Given the description of an element on the screen output the (x, y) to click on. 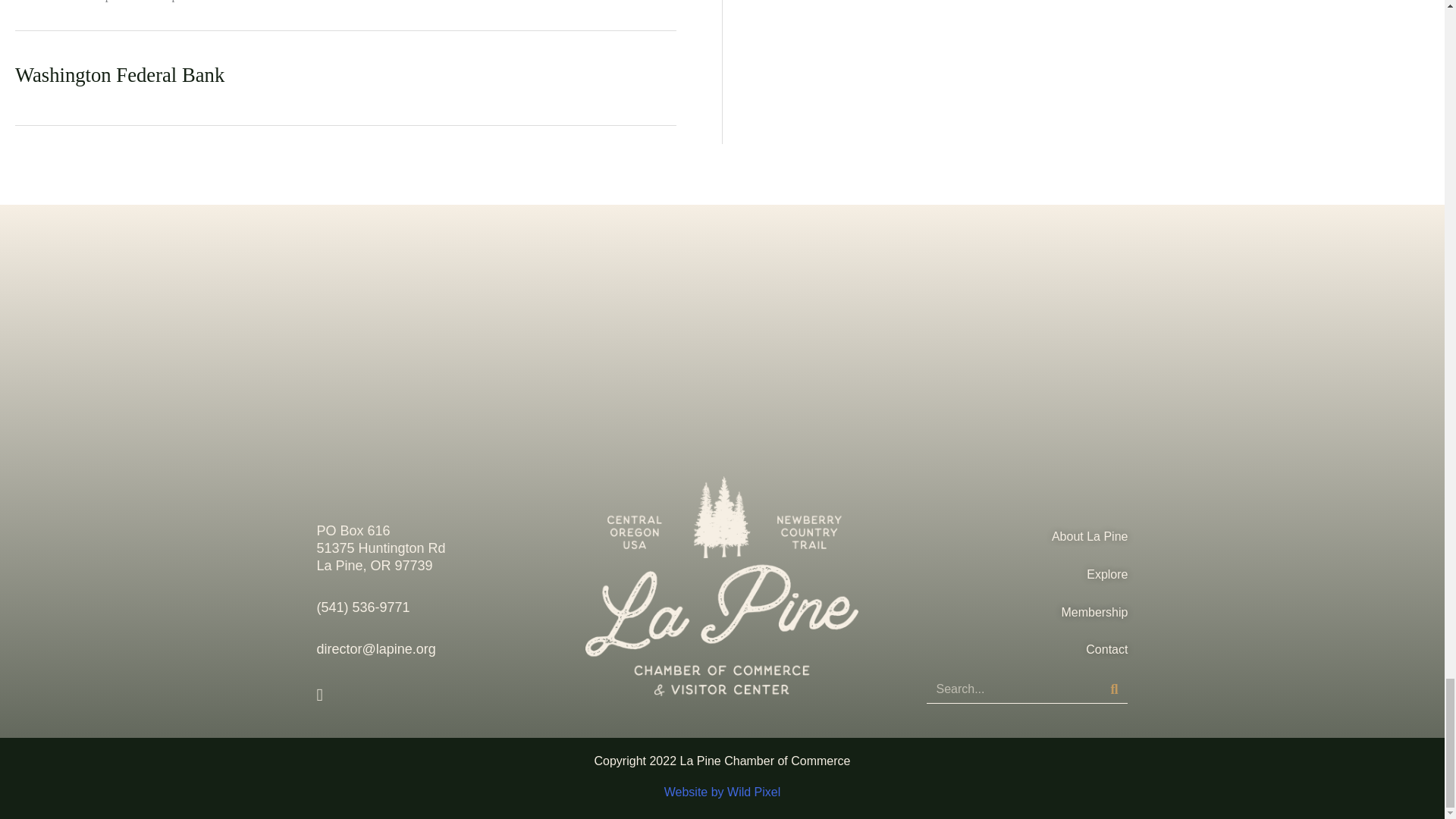
glucotrust offical website (149, 780)
glucotrust side effects  (369, 780)
glucotrust website (44, 780)
glucotrust side effects (264, 780)
glucotrust reviews (467, 780)
